Given the description of an element on the screen output the (x, y) to click on. 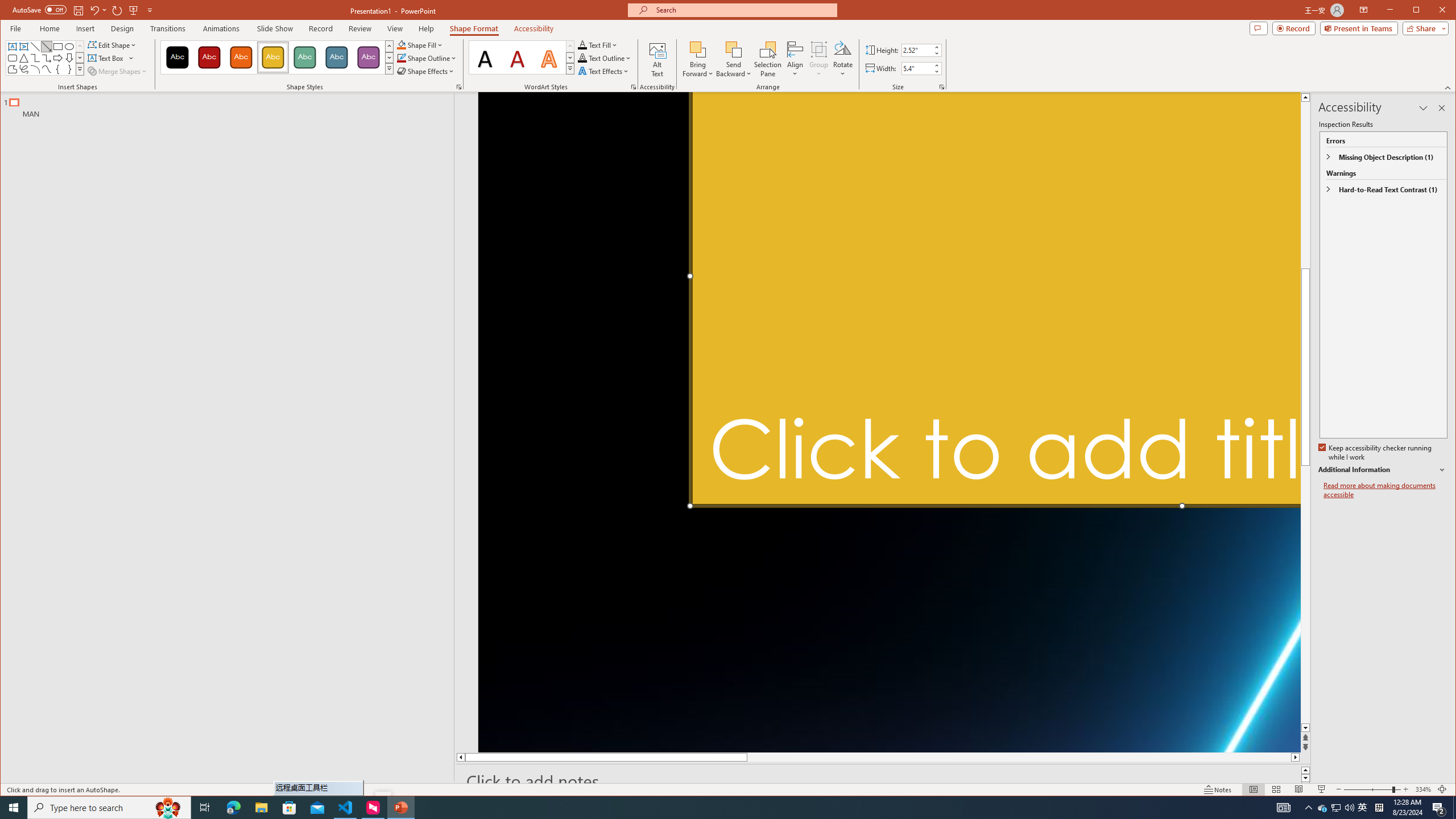
Connector: Elbow (34, 57)
Text Effects (603, 70)
More (935, 64)
Text Outline (604, 57)
Text Outline RGB(0, 0, 0) (582, 57)
Page up (1305, 177)
AutomationID: ShapeStylesGallery (277, 57)
Colored Fill - Gold, Accent 3 (272, 57)
Group (818, 59)
Zoom 334% (1422, 789)
